Given the description of an element on the screen output the (x, y) to click on. 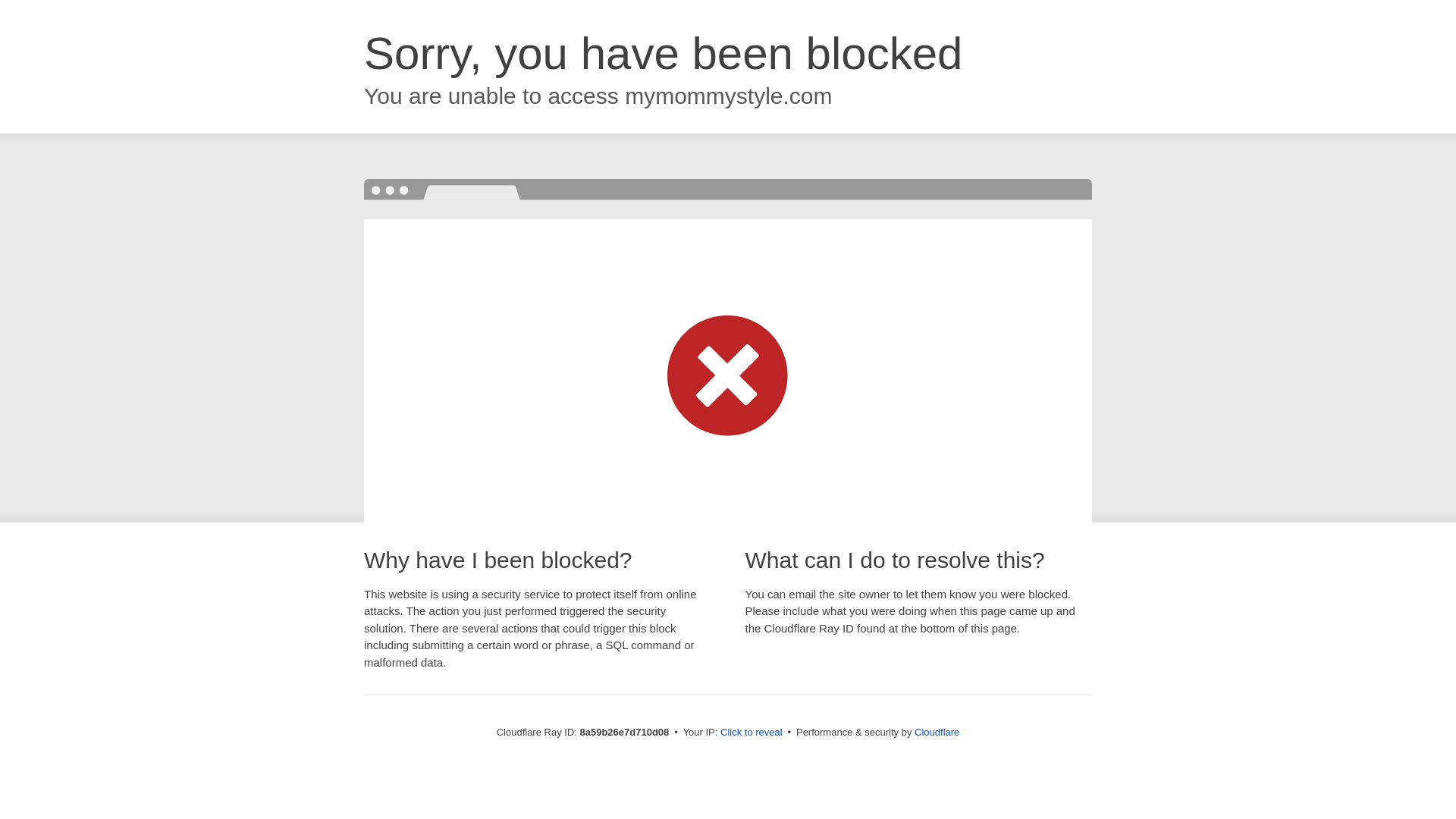
Cloudflare (936, 731)
Click to reveal (751, 732)
